Given the description of an element on the screen output the (x, y) to click on. 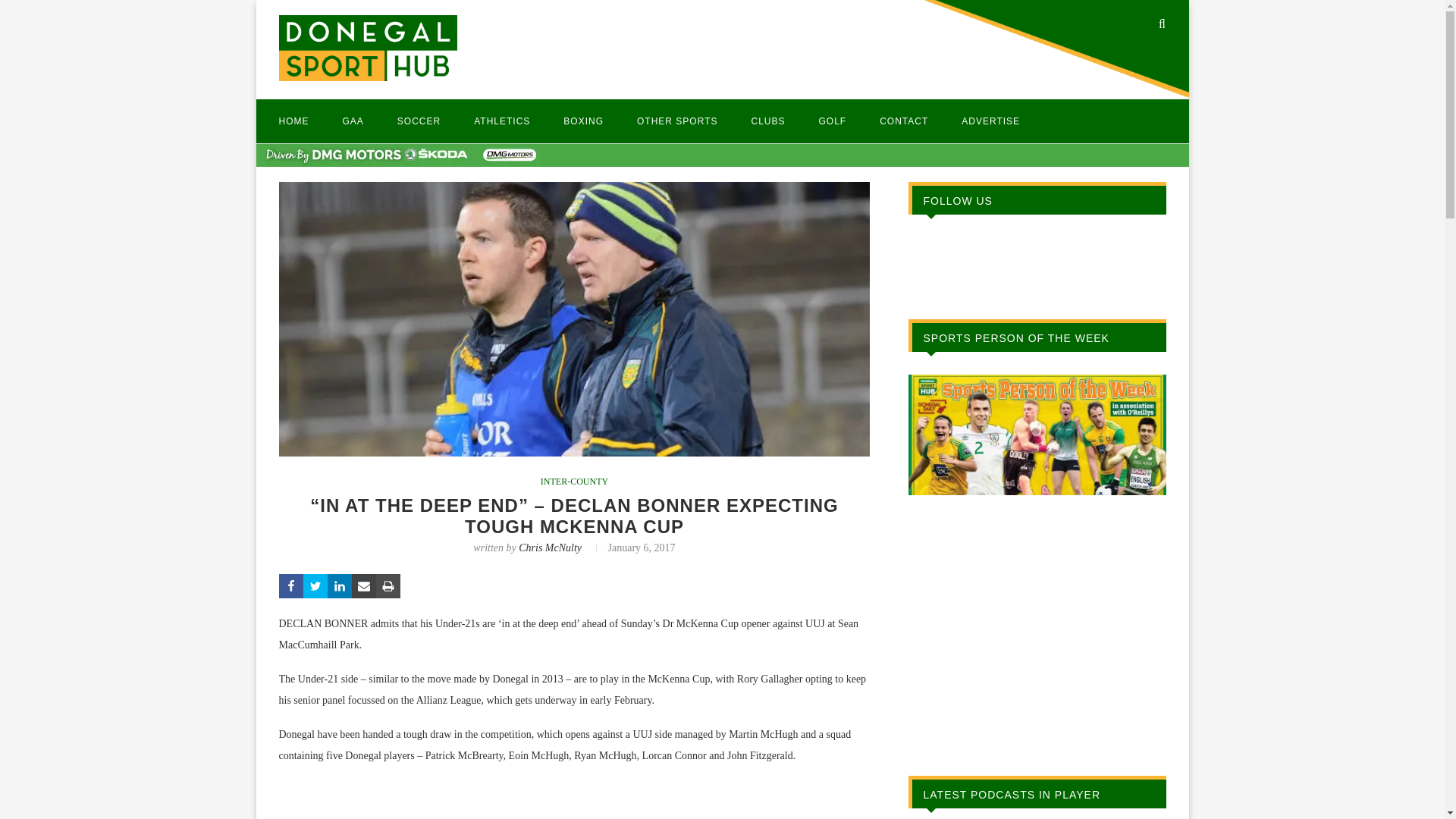
Share on LinkedIn (339, 586)
BOXING (583, 121)
SOCCER (419, 121)
INTER-COUNTY (574, 480)
ADVERTISE (990, 121)
Share via Email (363, 586)
CONTACT (903, 121)
Print this Page (387, 586)
OTHER SPORTS (677, 121)
Chris McNulty (549, 547)
